Given the description of an element on the screen output the (x, y) to click on. 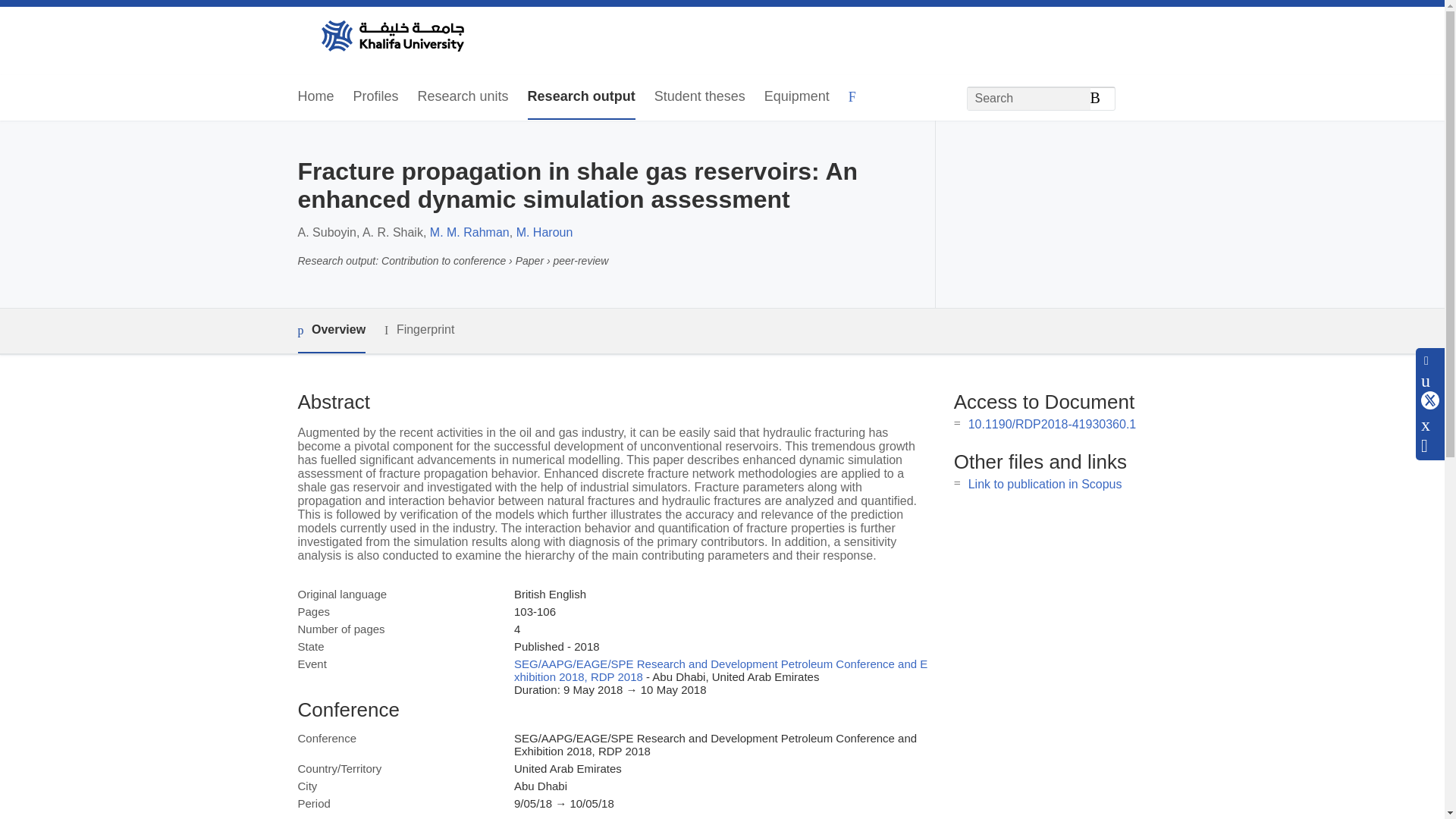
Khalifa University Home (391, 37)
Research units (462, 97)
Overview (331, 330)
M. M. Rahman (469, 232)
Research output (580, 97)
Profiles (375, 97)
Student theses (699, 97)
Fingerprint (419, 330)
Equipment (796, 97)
M. Haroun (544, 232)
Link to publication in Scopus (1045, 483)
